Given the description of an element on the screen output the (x, y) to click on. 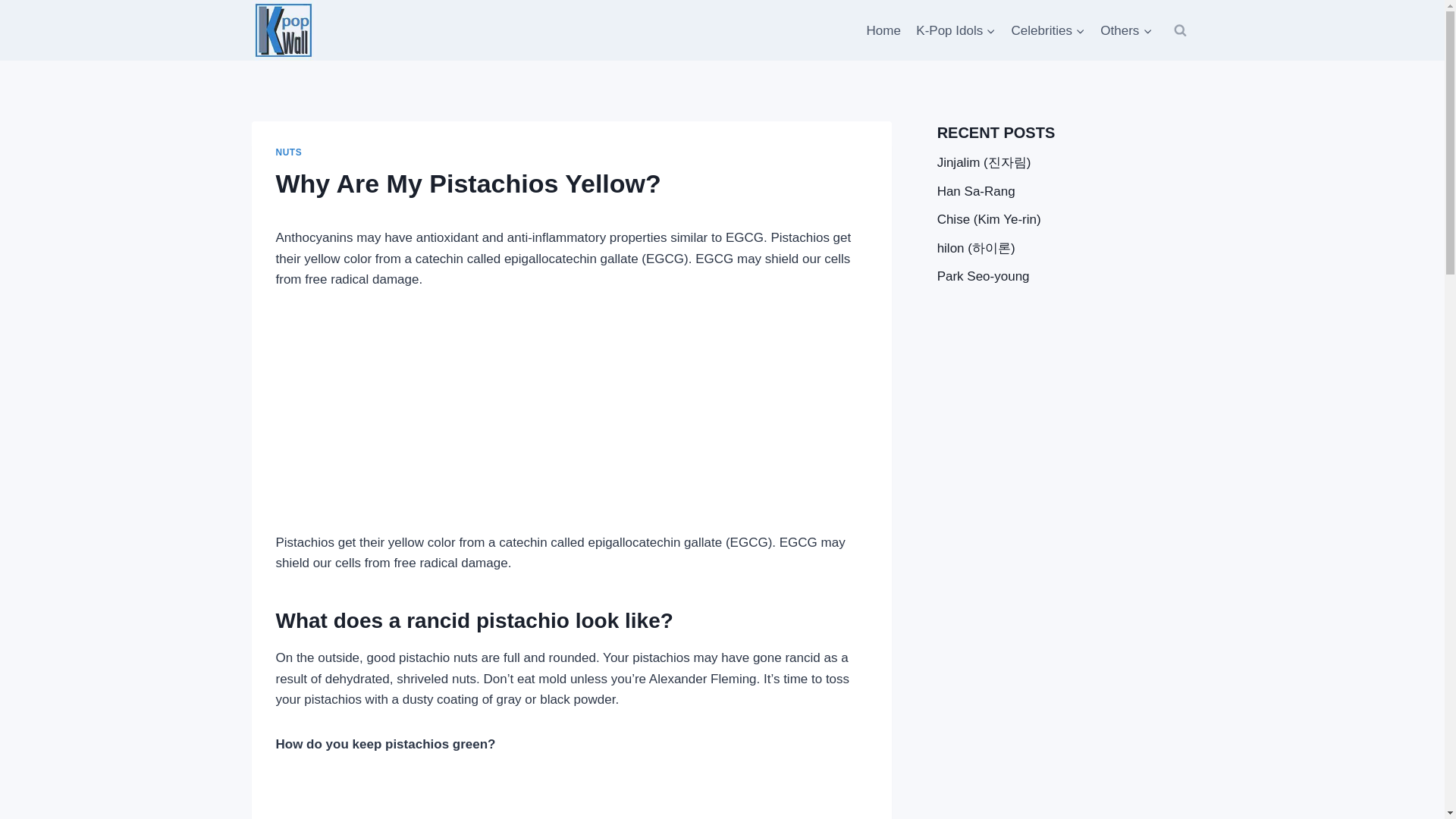
Others (1125, 30)
NUTS (289, 152)
Celebrities (1048, 30)
K-Pop Idols (955, 30)
Home (883, 30)
